Given the description of an element on the screen output the (x, y) to click on. 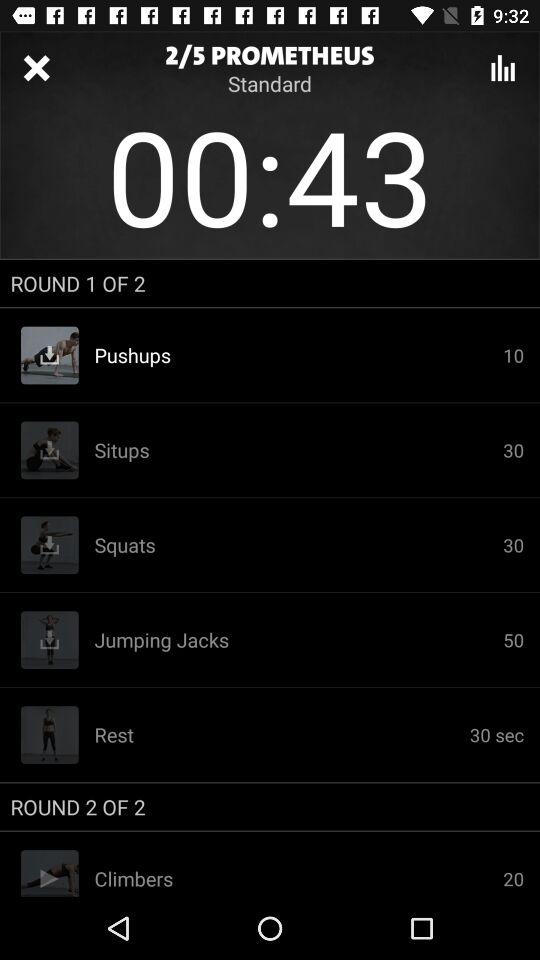
launch the pushups icon (298, 355)
